Given the description of an element on the screen output the (x, y) to click on. 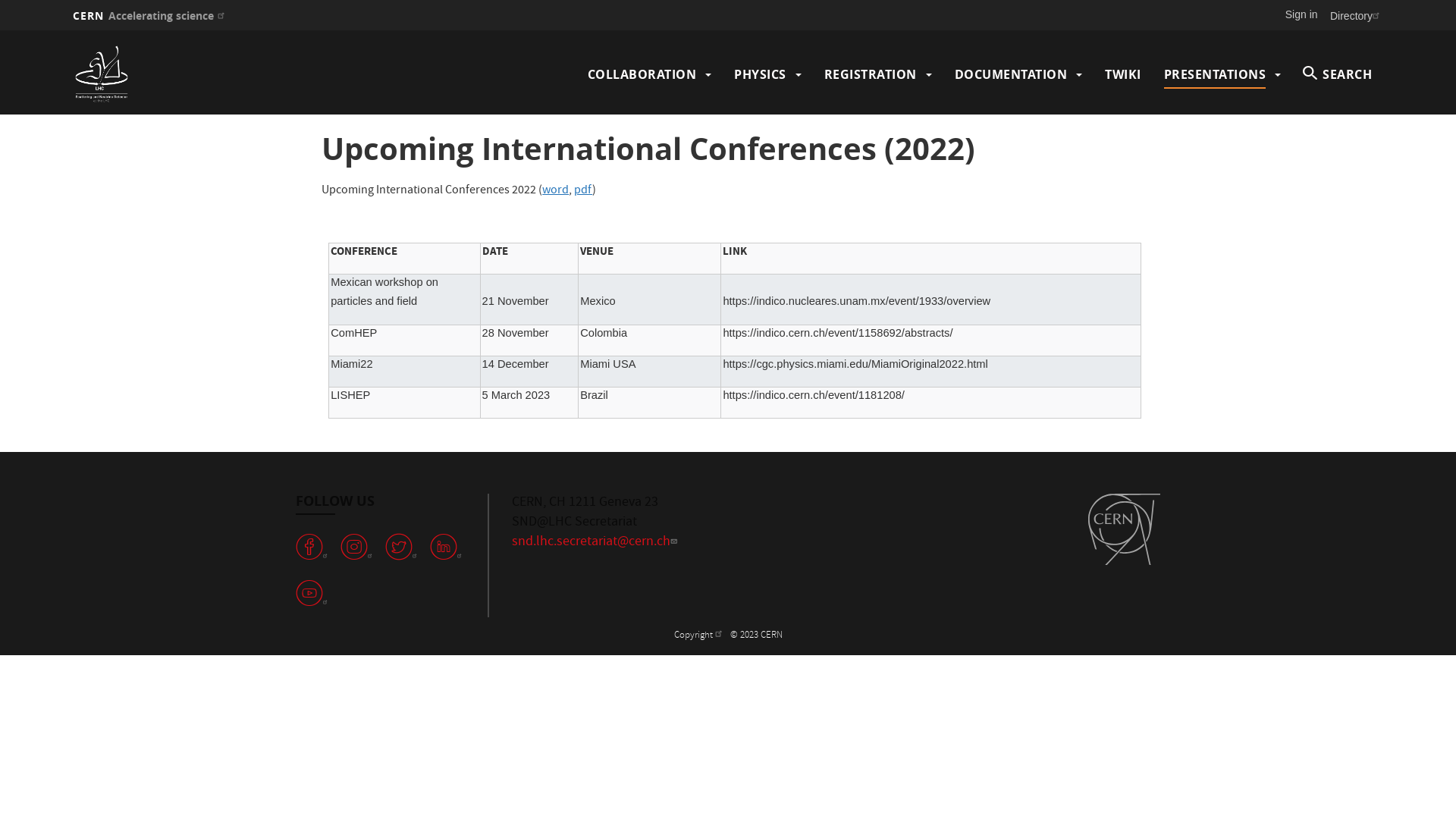
PRESENTATIONS Element type: text (1214, 74)
1(link is external) Element type: text (314, 593)
J(link is external) Element type: text (359, 547)
Directory(link is external) Element type: text (1356, 14)
REGISTRATION Element type: text (869, 74)
TWIKI Element type: text (1122, 74)
Sign in Element type: text (1301, 14)
word Element type: text (555, 191)
SEARCH Element type: text (1337, 74)
Copyright (link is external) Element type: text (698, 635)
v(link is external) Element type: text (314, 547)
Skip to main content Element type: text (0, 30)
pdf Element type: text (583, 191)
W(link is external) Element type: text (404, 547)
PHYSICS Element type: text (760, 74)
Home Element type: hover (232, 74)
CERN Element type: hover (1124, 528)
snd.lhc.secretariat@cern.ch(link sends email) Element type: text (595, 542)
M(link is external) Element type: text (448, 547)
COLLABORATION Element type: text (641, 74)
DOCUMENTATION Element type: text (1009, 74)
CERN Accelerating science (link is external) Element type: text (150, 14)
